Given the description of an element on the screen output the (x, y) to click on. 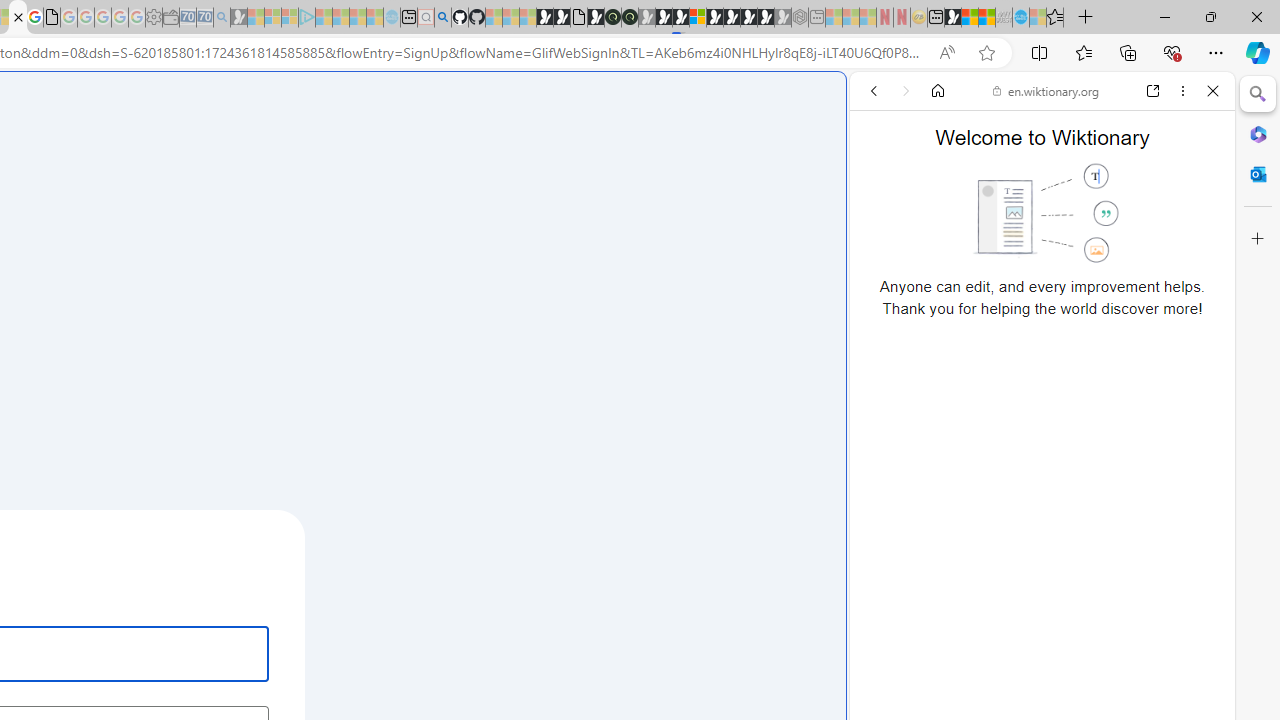
Wiktionary (1034, 669)
Sign in to your account (697, 17)
Search or enter web address (343, 191)
github - Search (442, 17)
Earth has six continents not seven, radical new study claims (986, 17)
